Given the description of an element on the screen output the (x, y) to click on. 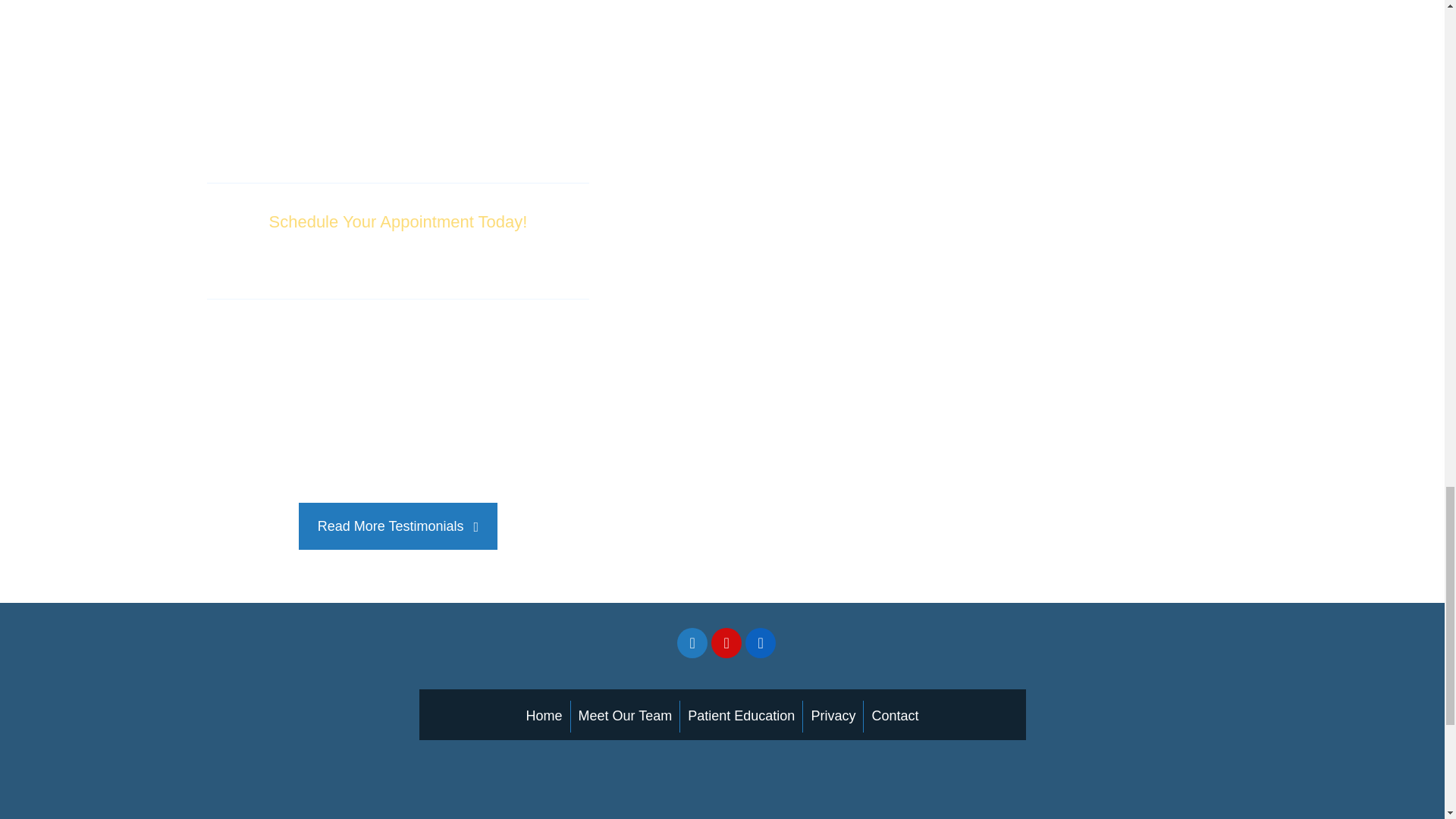
google-busines (793, 643)
Facebook (692, 643)
logo (355, 790)
Read More Testimonials (397, 526)
